Given the description of an element on the screen output the (x, y) to click on. 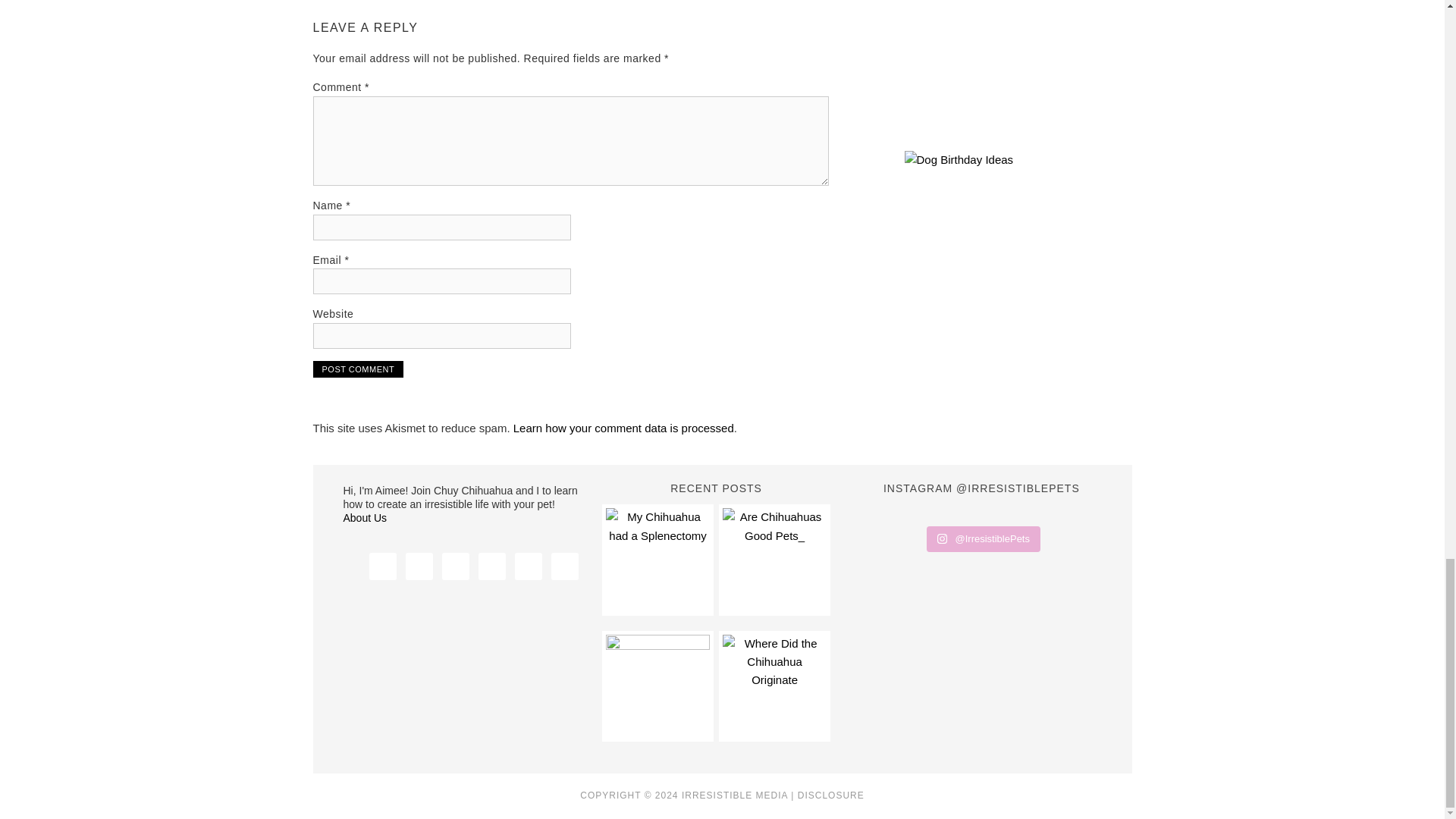
Are Chihuahuas Good Pets? (773, 558)
Where Did the Chihuahua Originate? (773, 685)
Post Comment (358, 369)
Learn how your comment data is processed (623, 427)
About Us (364, 517)
Post Comment (358, 369)
My Chihuahua Had a Splenectomy (657, 558)
